Given the description of an element on the screen output the (x, y) to click on. 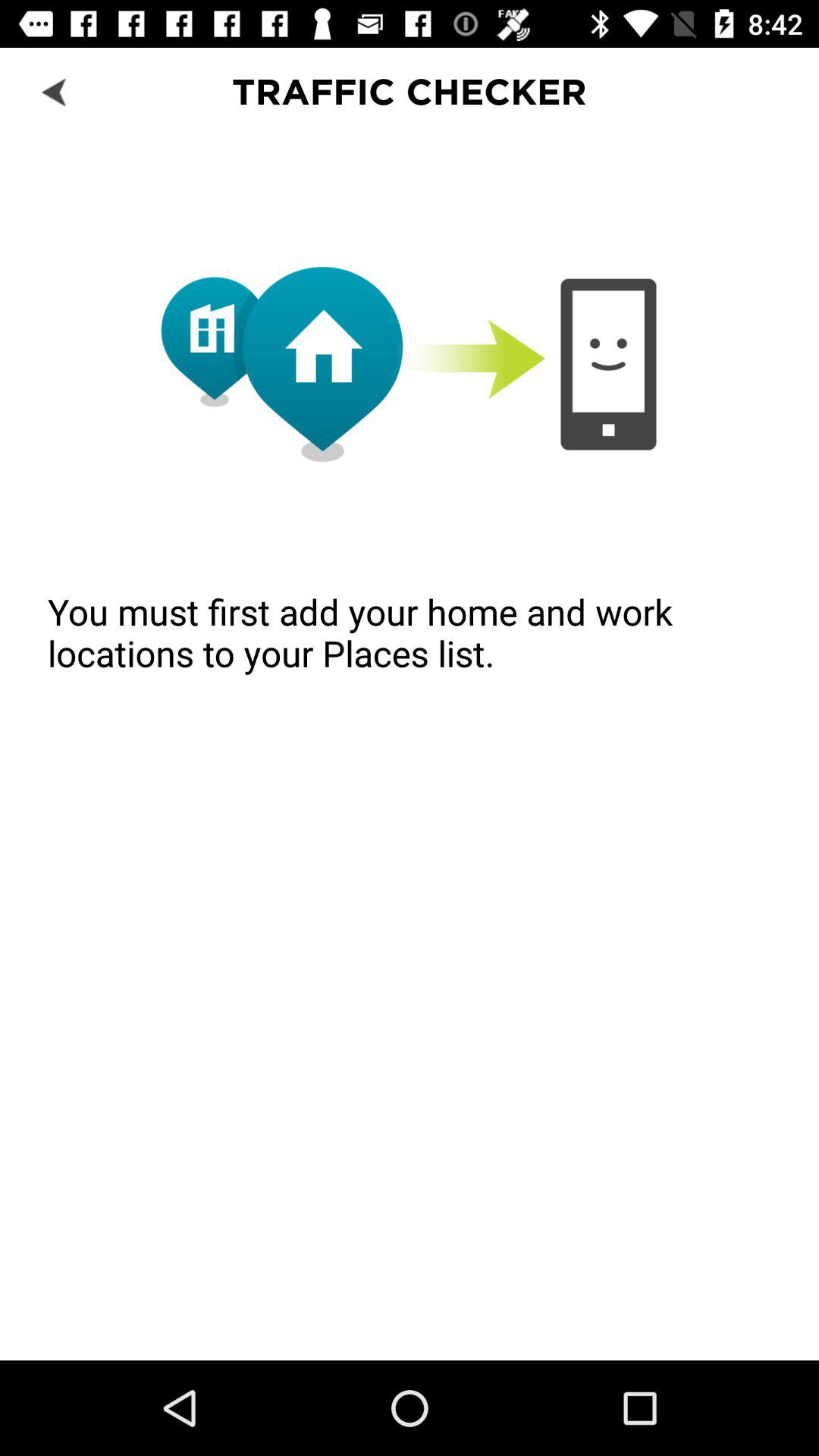
turn on the icon at the top left corner (55, 91)
